Given the description of an element on the screen output the (x, y) to click on. 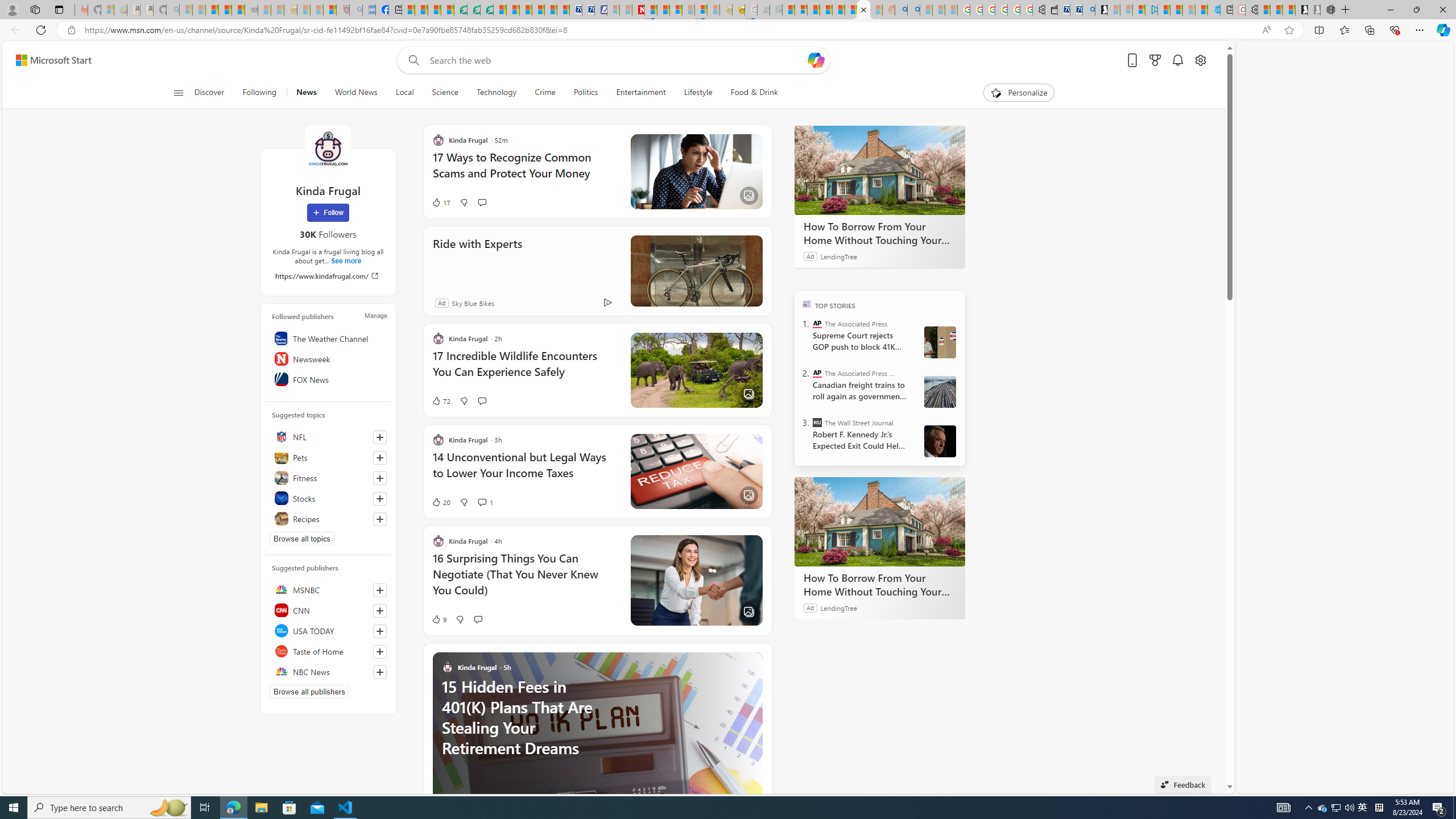
Class: button-glyph (178, 92)
Latest Politics News & Archive | Newsweek.com (638, 9)
Enter your search term (617, 59)
Follow this source (379, 672)
Cheap Car Rentals - Save70.com (1076, 9)
USA TODAY (327, 630)
